Given the description of an element on the screen output the (x, y) to click on. 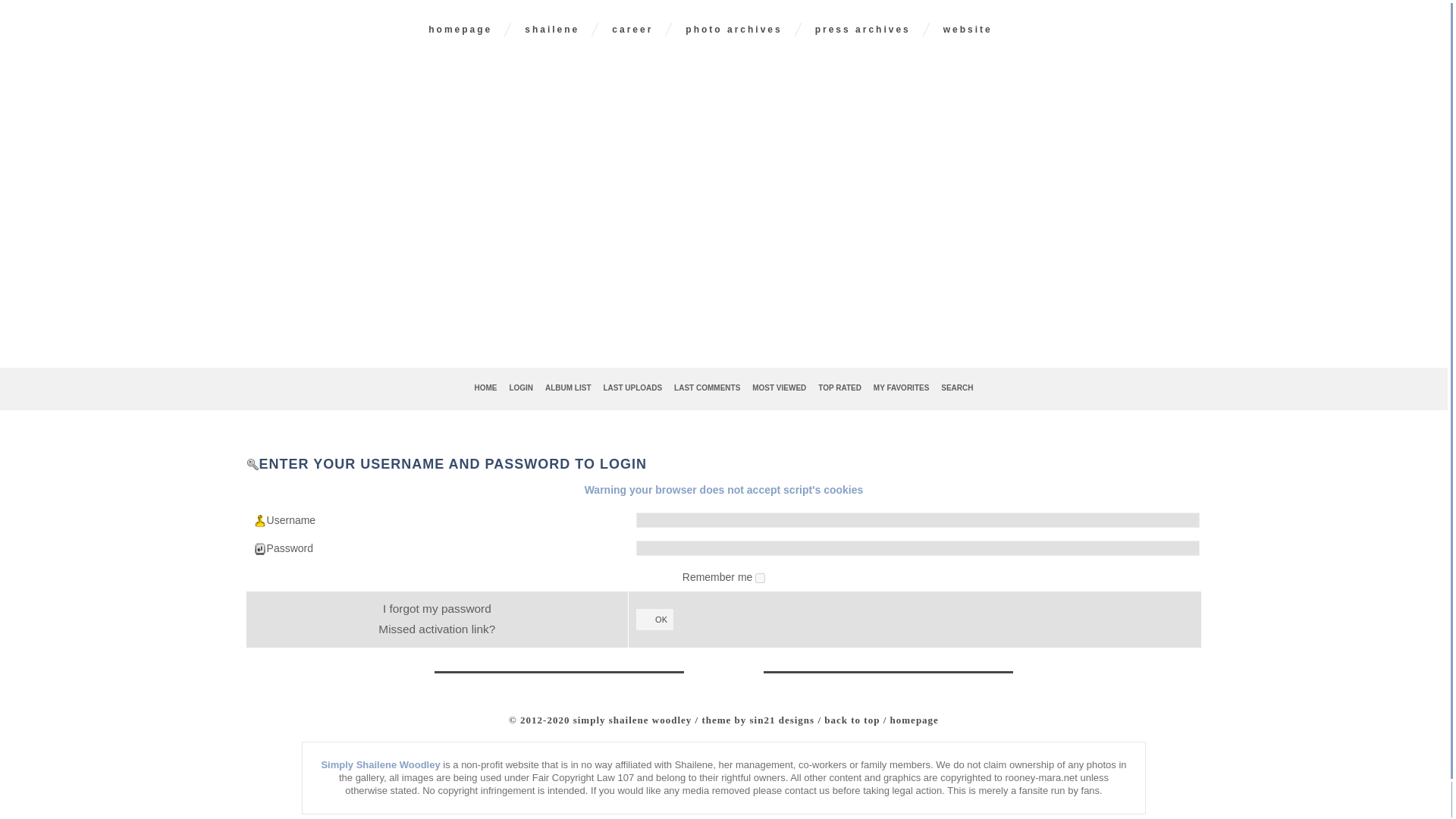
LAST COMMENTS (706, 387)
MOST VIEWED (779, 387)
press archives (863, 29)
Search the gallery (956, 387)
Show top rated items (839, 387)
photo archives (733, 29)
Show most recent comments (706, 387)
homepage (460, 29)
Log me in (520, 387)
LAST UPLOADS (632, 387)
ALBUM LIST (567, 387)
SEARCH (956, 387)
Show most recent uploads (632, 387)
TOP RATED (839, 387)
LOGIN (520, 387)
